Given the description of an element on the screen output the (x, y) to click on. 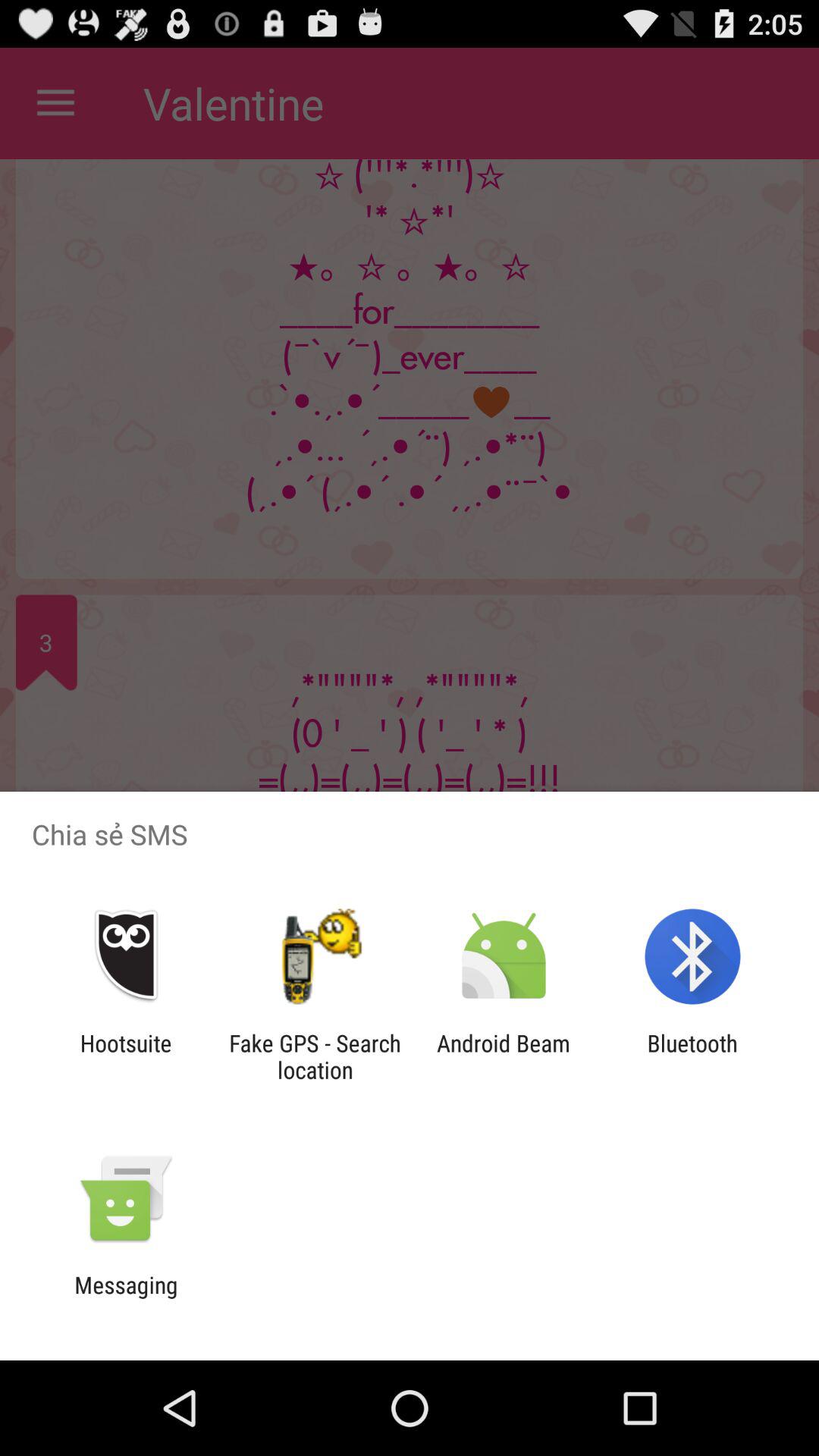
open the app next to hootsuite app (314, 1056)
